Given the description of an element on the screen output the (x, y) to click on. 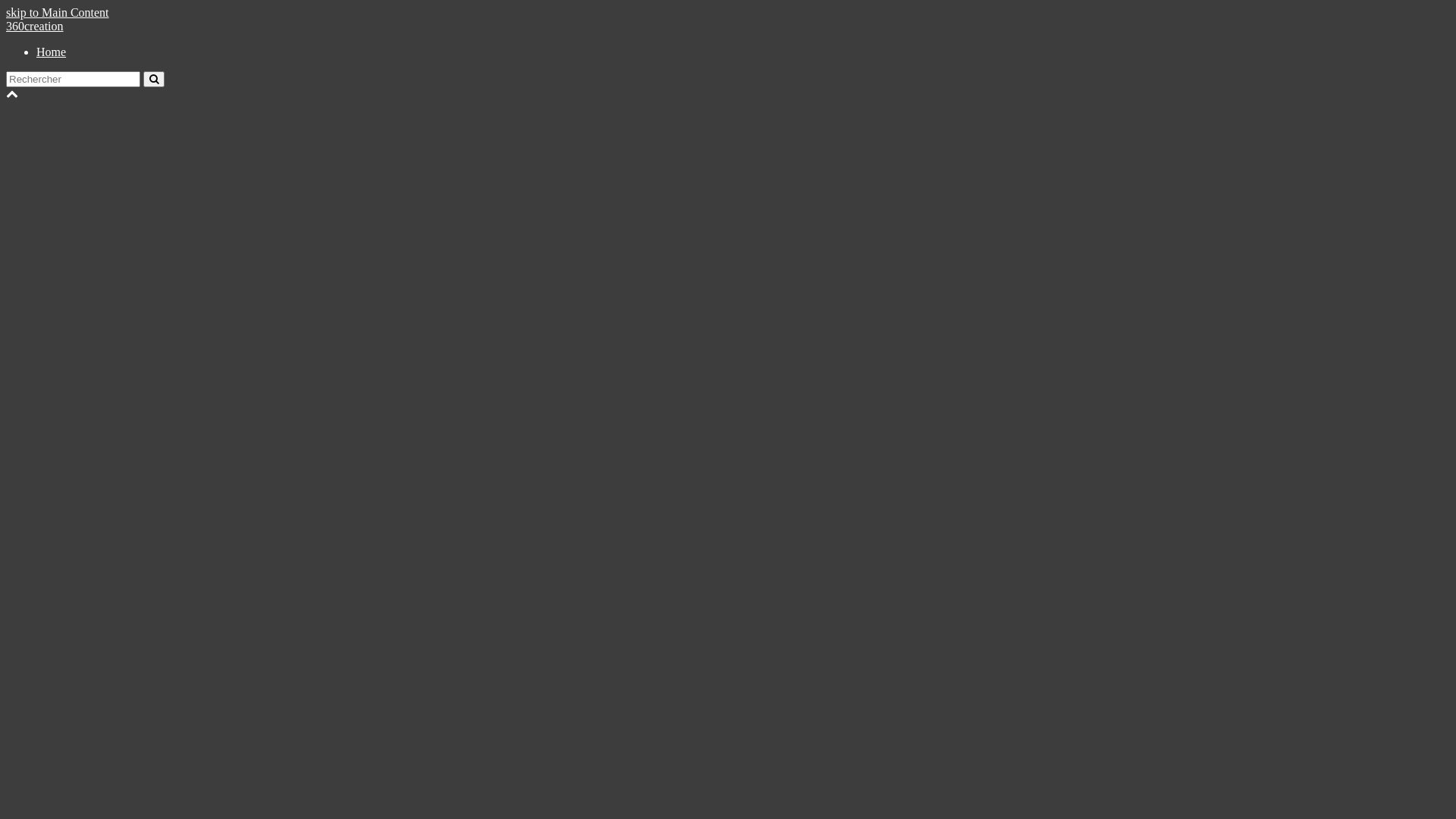
skip to Main Content Element type: text (57, 12)
360creation Element type: text (34, 25)
Back To Top Element type: text (12, 93)
Home Element type: text (50, 51)
